Given the description of an element on the screen output the (x, y) to click on. 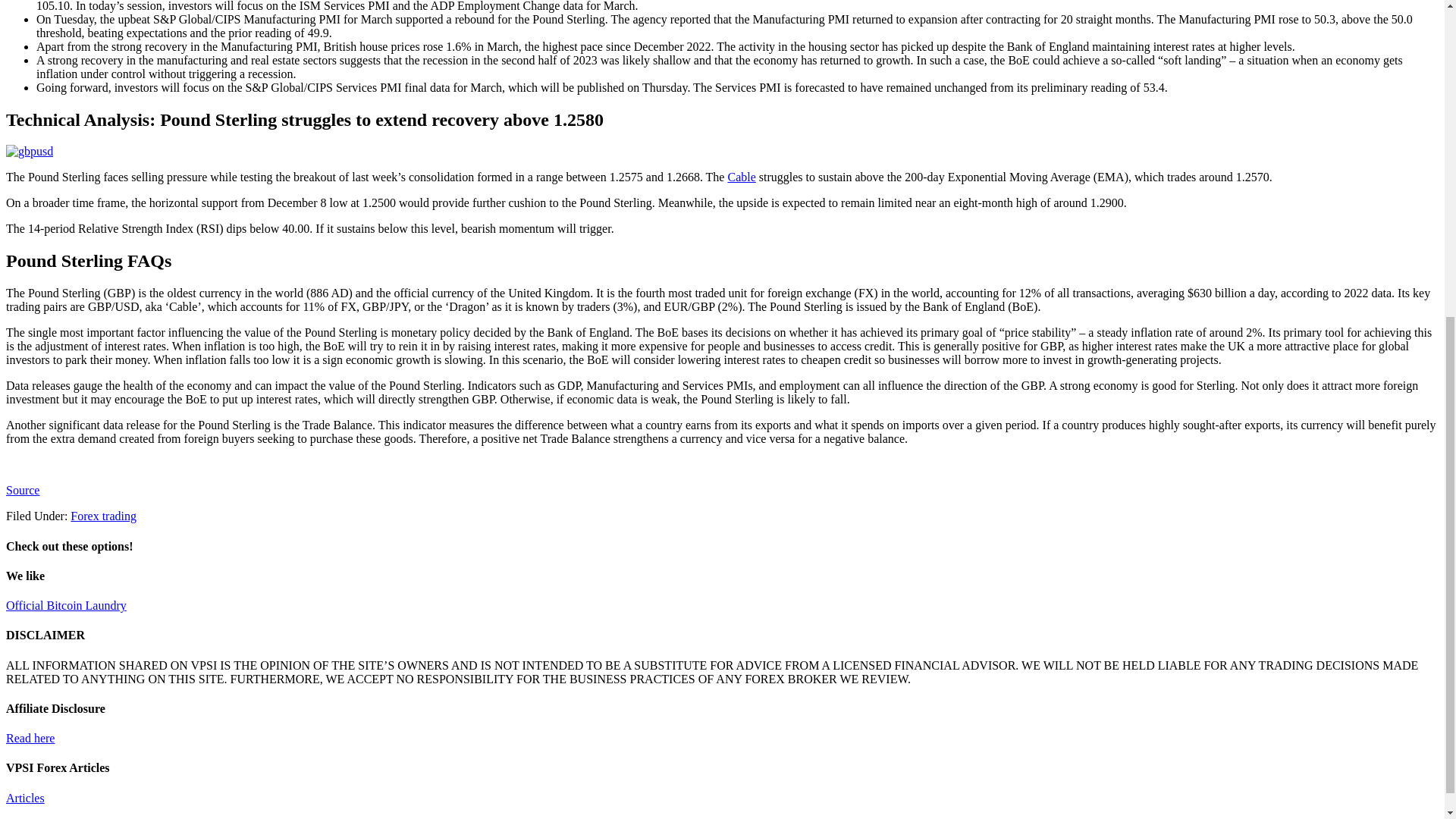
Forex trading (102, 515)
Official Bitcoin Laundry (65, 604)
Articles (25, 797)
Read here (30, 738)
Cable (740, 176)
Source (22, 490)
